Given the description of an element on the screen output the (x, y) to click on. 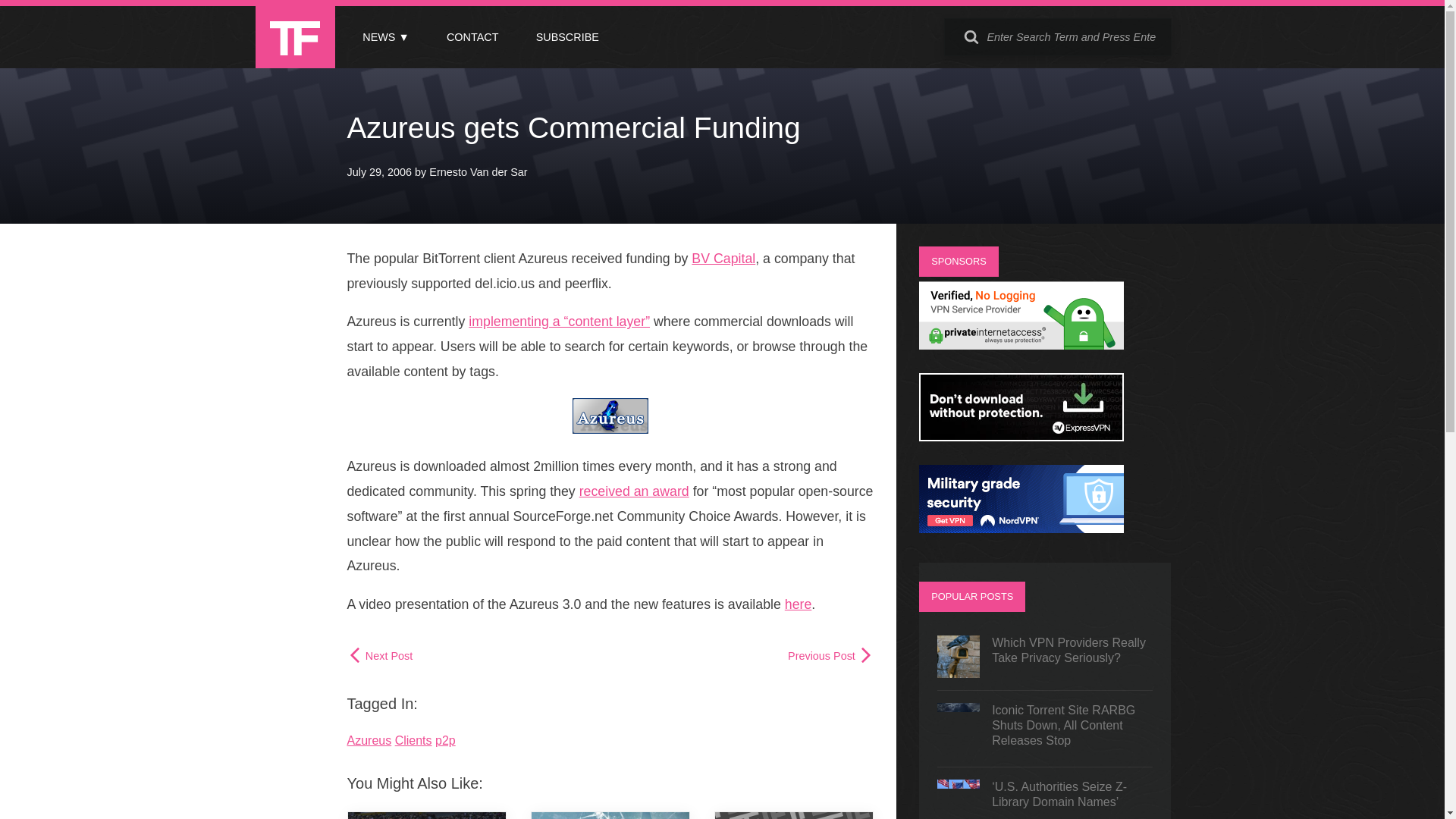
Which VPN Providers Really Take Privacy Seriously? (1045, 656)
Azureus (369, 739)
Previous Post (830, 655)
Clients (413, 739)
Private Internet Access (1021, 345)
SUBSCRIBE (566, 37)
CONTACT (471, 37)
BV Capital (723, 258)
Next Post (380, 655)
